Given the description of an element on the screen output the (x, y) to click on. 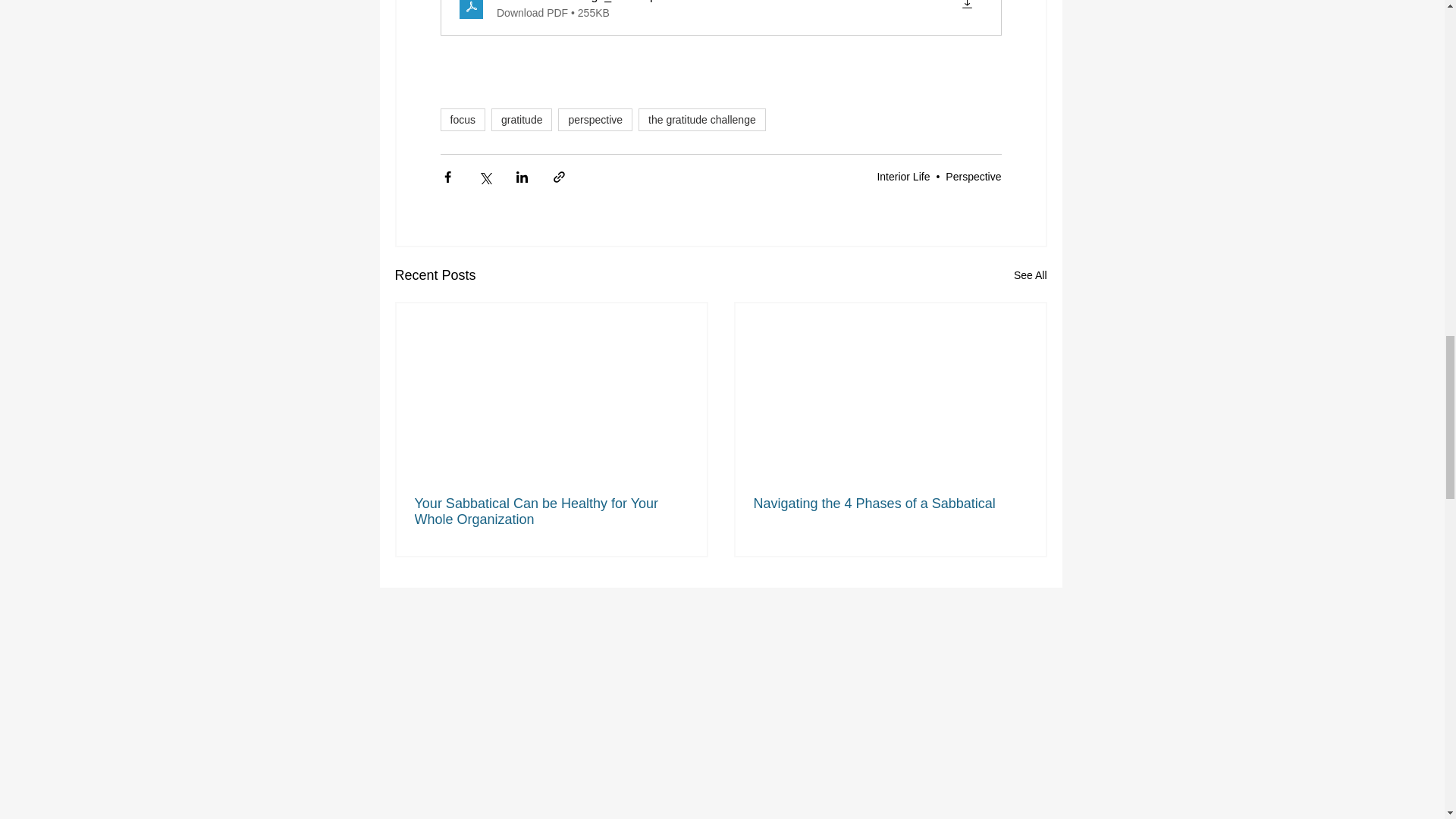
gratitude (521, 119)
perspective (594, 119)
Perspective (972, 176)
Navigating the 4 Phases of a Sabbatical (890, 503)
See All (1029, 275)
Your Sabbatical Can be Healthy for Your Whole Organization (550, 511)
the gratitude challenge (702, 119)
focus (461, 119)
Interior Life (903, 176)
